Given the description of an element on the screen output the (x, y) to click on. 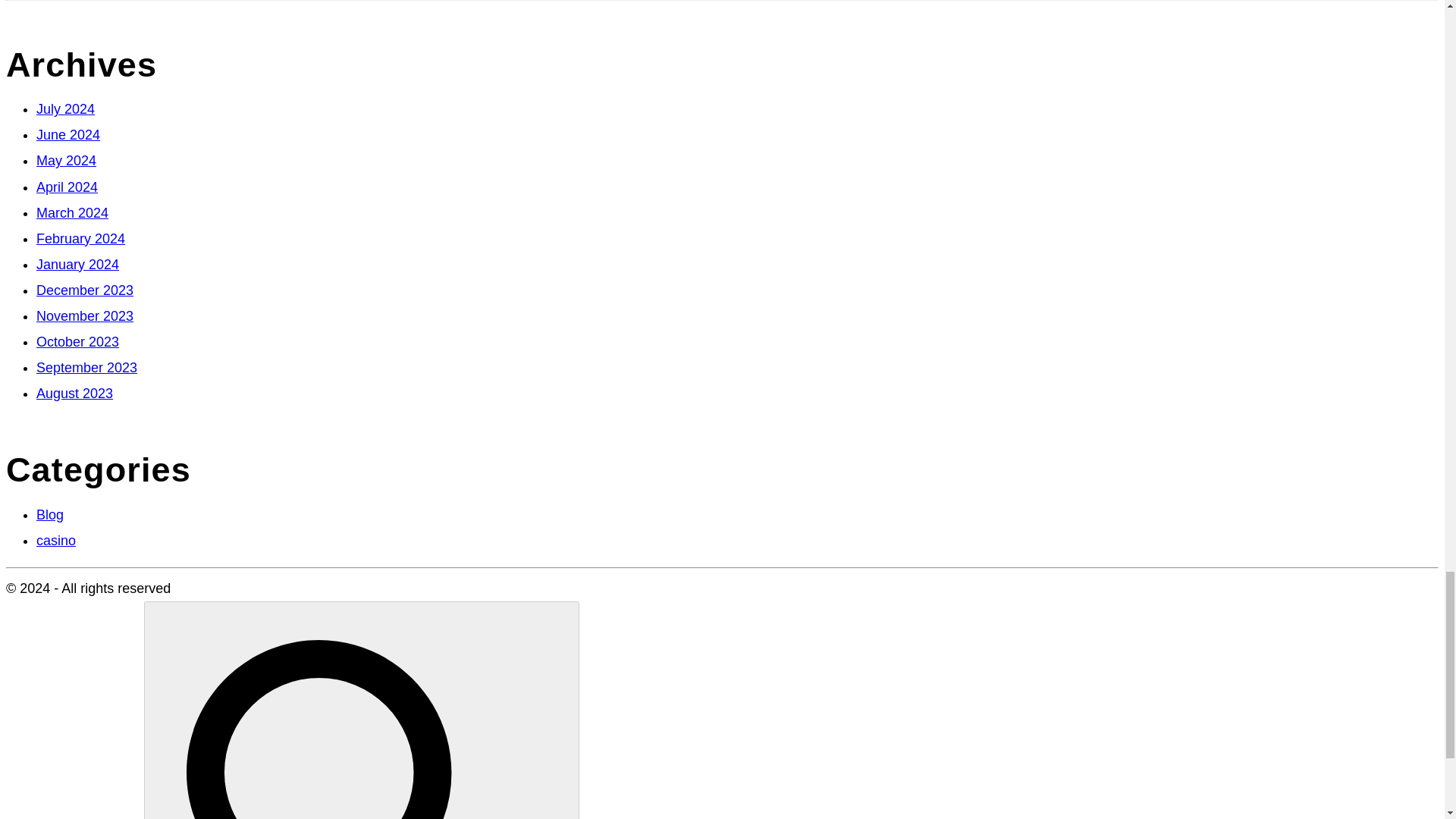
October 2023 (77, 341)
April 2024 (66, 186)
May 2024 (66, 160)
March 2024 (71, 212)
November 2023 (84, 315)
February 2024 (80, 238)
July 2024 (65, 109)
June 2024 (68, 134)
September 2023 (86, 367)
Search (361, 710)
December 2023 (84, 290)
August 2023 (74, 393)
casino (55, 540)
Blog (50, 514)
January 2024 (77, 264)
